Given the description of an element on the screen output the (x, y) to click on. 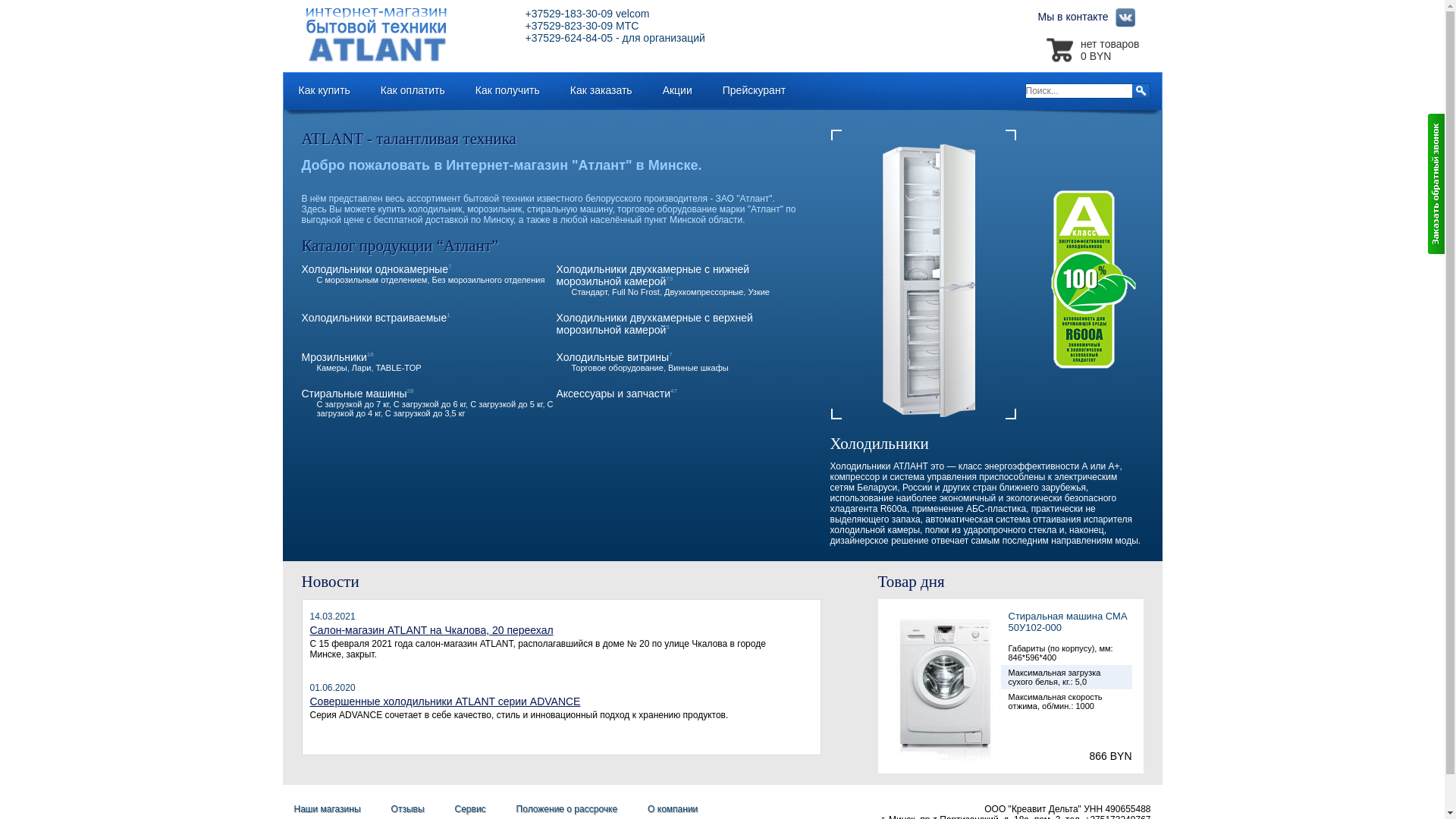
Full No Frost Element type: text (635, 291)
TABLE-TOP Element type: text (398, 367)
